Given the description of an element on the screen output the (x, y) to click on. 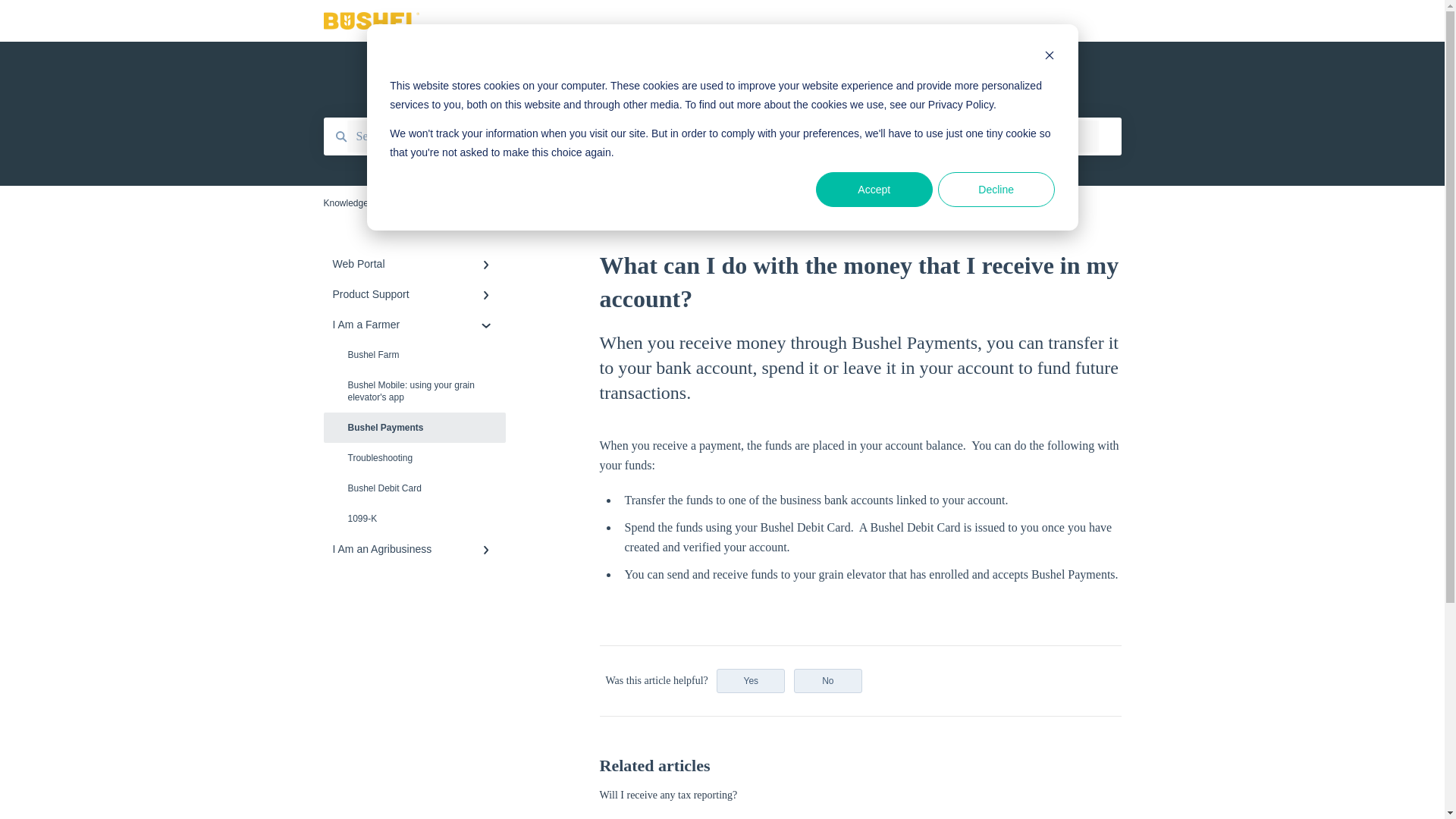
Product Support (414, 294)
Web Portal (414, 263)
Knowledge Base (696, 21)
I Am a Farmer (438, 203)
Homepage (1027, 25)
Knowledge Base (357, 203)
I Am a Farmer (414, 324)
Bushel Farm (414, 354)
